Given the description of an element on the screen output the (x, y) to click on. 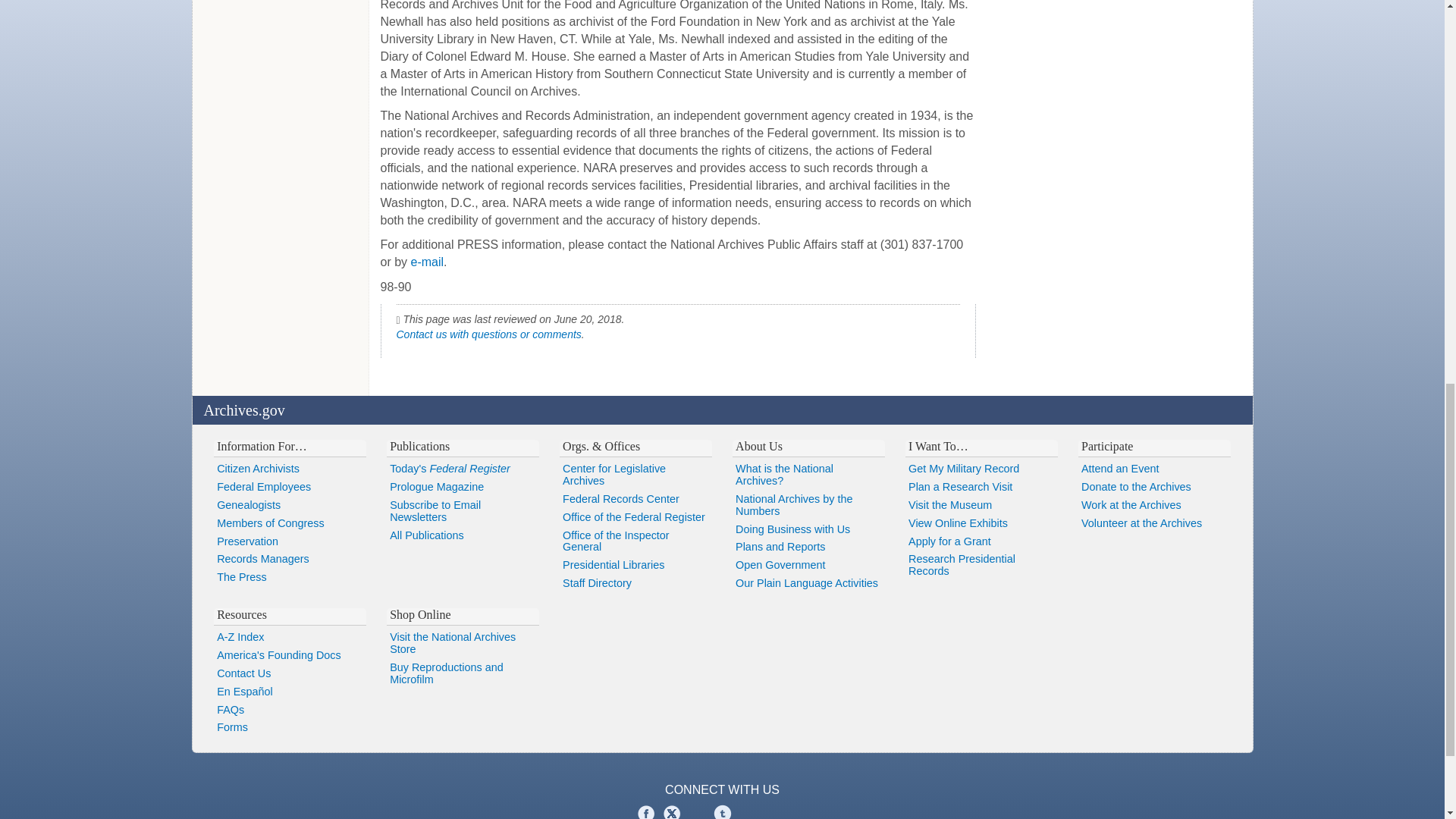
Contact us with questions or comments (488, 334)
e-mail (427, 261)
Federal Employees (290, 487)
Citizen Archivists (290, 469)
